Given the description of an element on the screen output the (x, y) to click on. 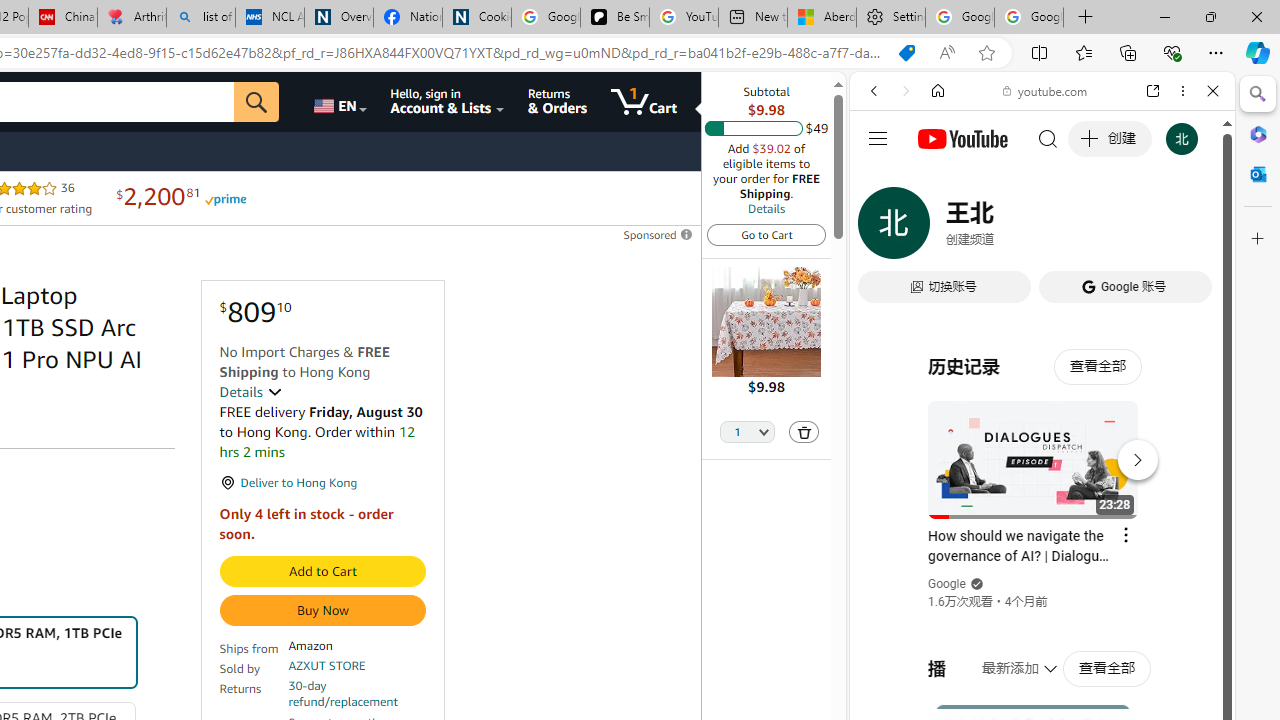
NCL Adult Asthma Inhaler Choice Guideline (269, 17)
Browser essentials (1171, 52)
Collections (1128, 52)
Music (1042, 543)
Open link in new tab (1153, 91)
Search the web (1051, 137)
You have the best price! Shopping in Microsoft Edge (906, 53)
Buy Now (322, 610)
Copilot (Ctrl+Shift+.) (1258, 52)
Show More Music (1164, 546)
#you (1042, 445)
Details (765, 208)
Add this page to favorites (Ctrl+D) (986, 53)
Music (1042, 543)
